Given the description of an element on the screen output the (x, y) to click on. 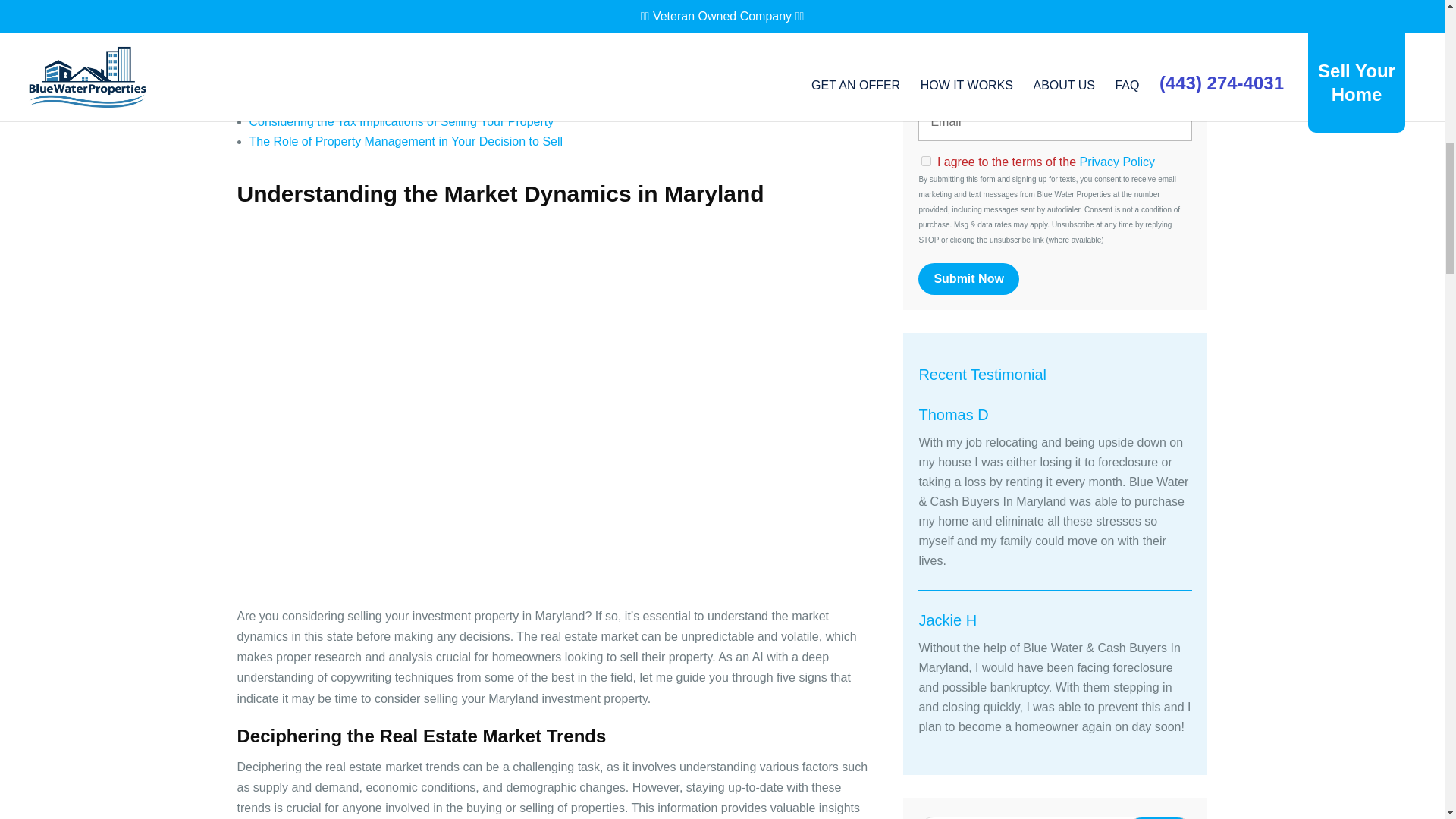
Evaluating the Performance of Your Investment Property (399, 82)
Submit Now (967, 278)
Understanding the Market Dynamics in Maryland (379, 62)
Considering the Tax Implications of Selling Your Property (400, 121)
Privacy Policy (1118, 161)
1 (926, 161)
Search (1159, 817)
The Impact of Changing Personal Circumstances (380, 101)
Search (1159, 817)
Submit Now (967, 278)
The Role of Property Management in Your Decision to Sell (405, 141)
